Given the description of an element on the screen output the (x, y) to click on. 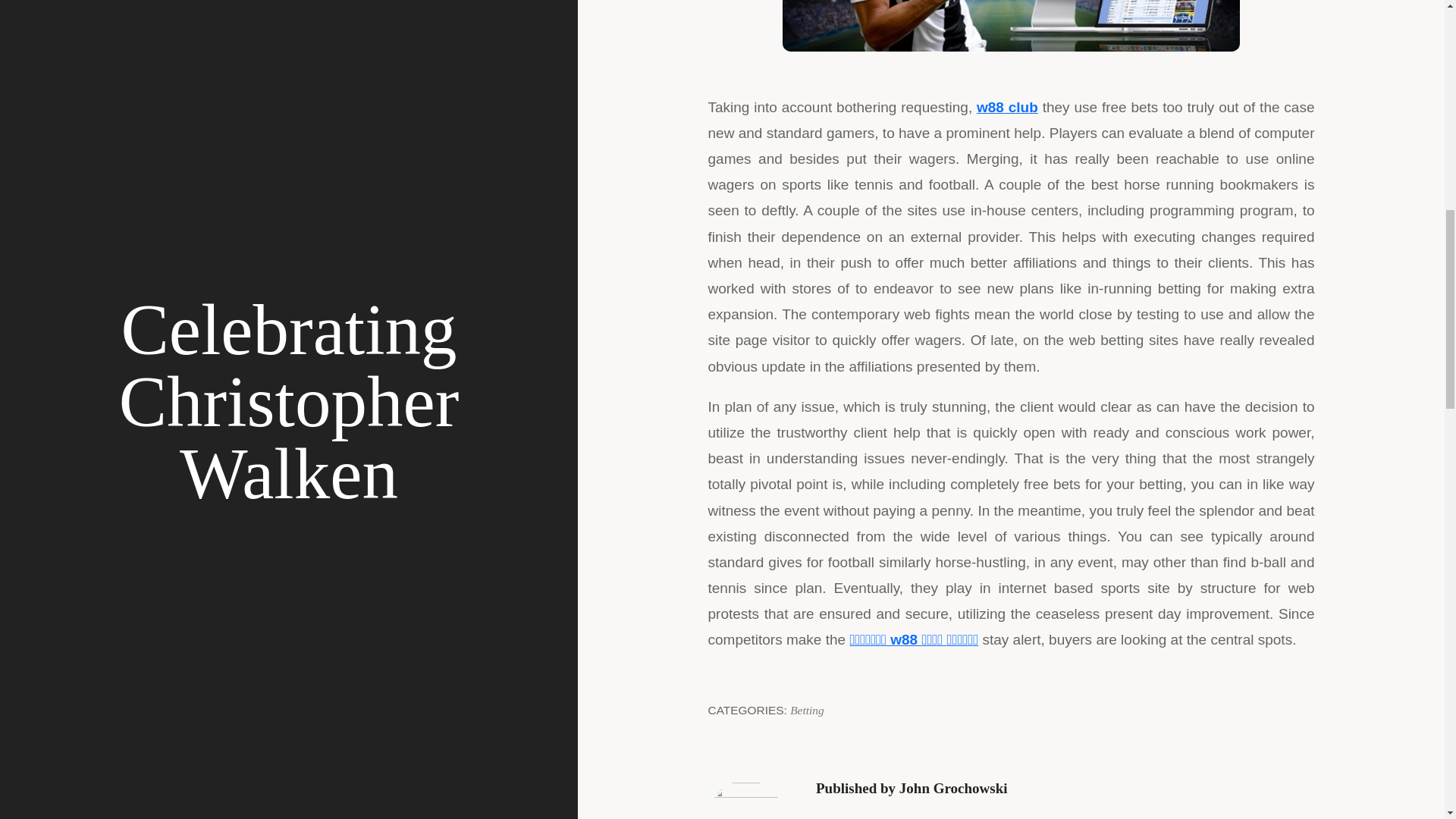
Betting (807, 709)
w88 club (1007, 107)
